Given the description of an element on the screen output the (x, y) to click on. 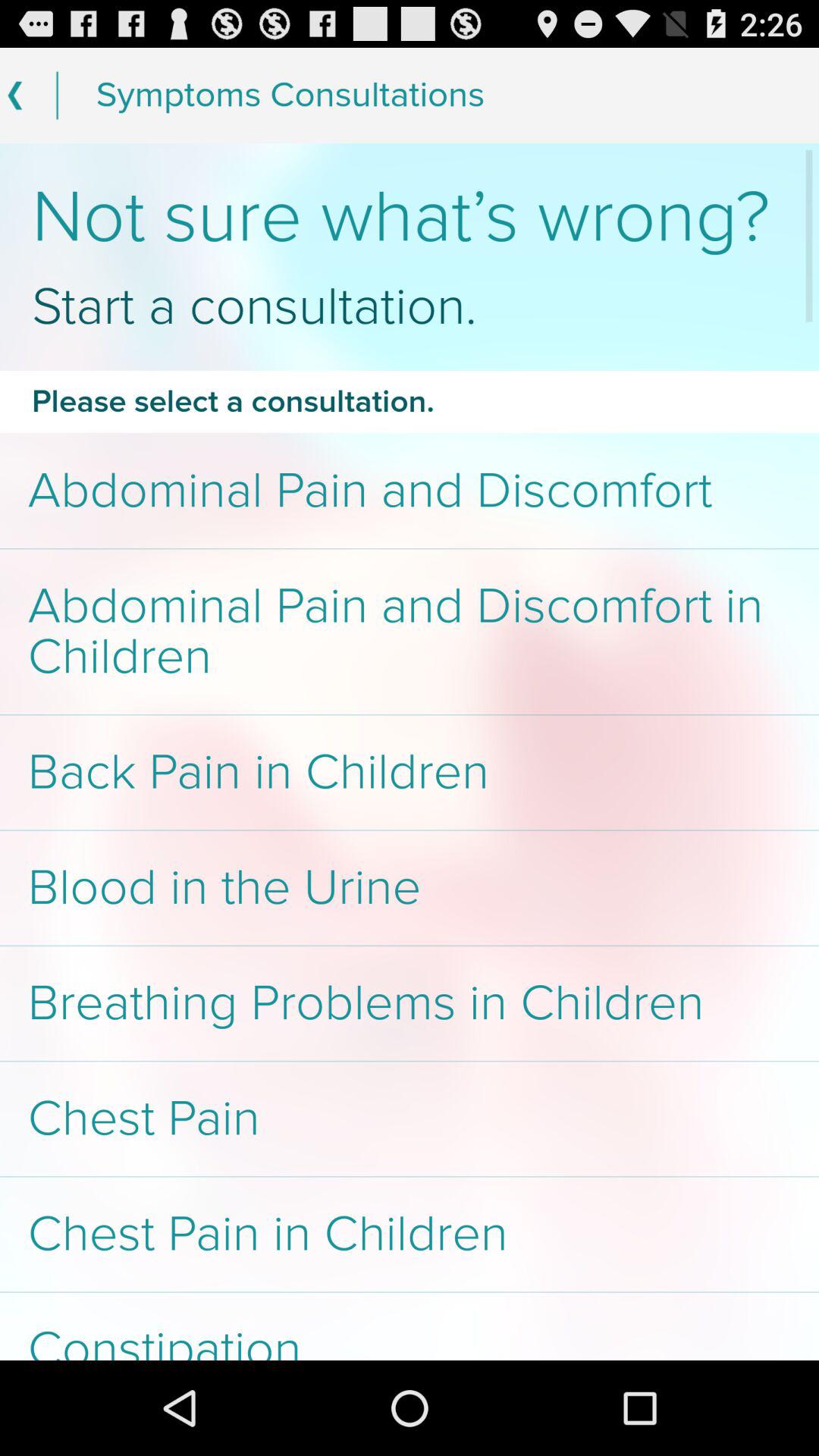
click app above the chest pain (409, 1003)
